Given the description of an element on the screen output the (x, y) to click on. 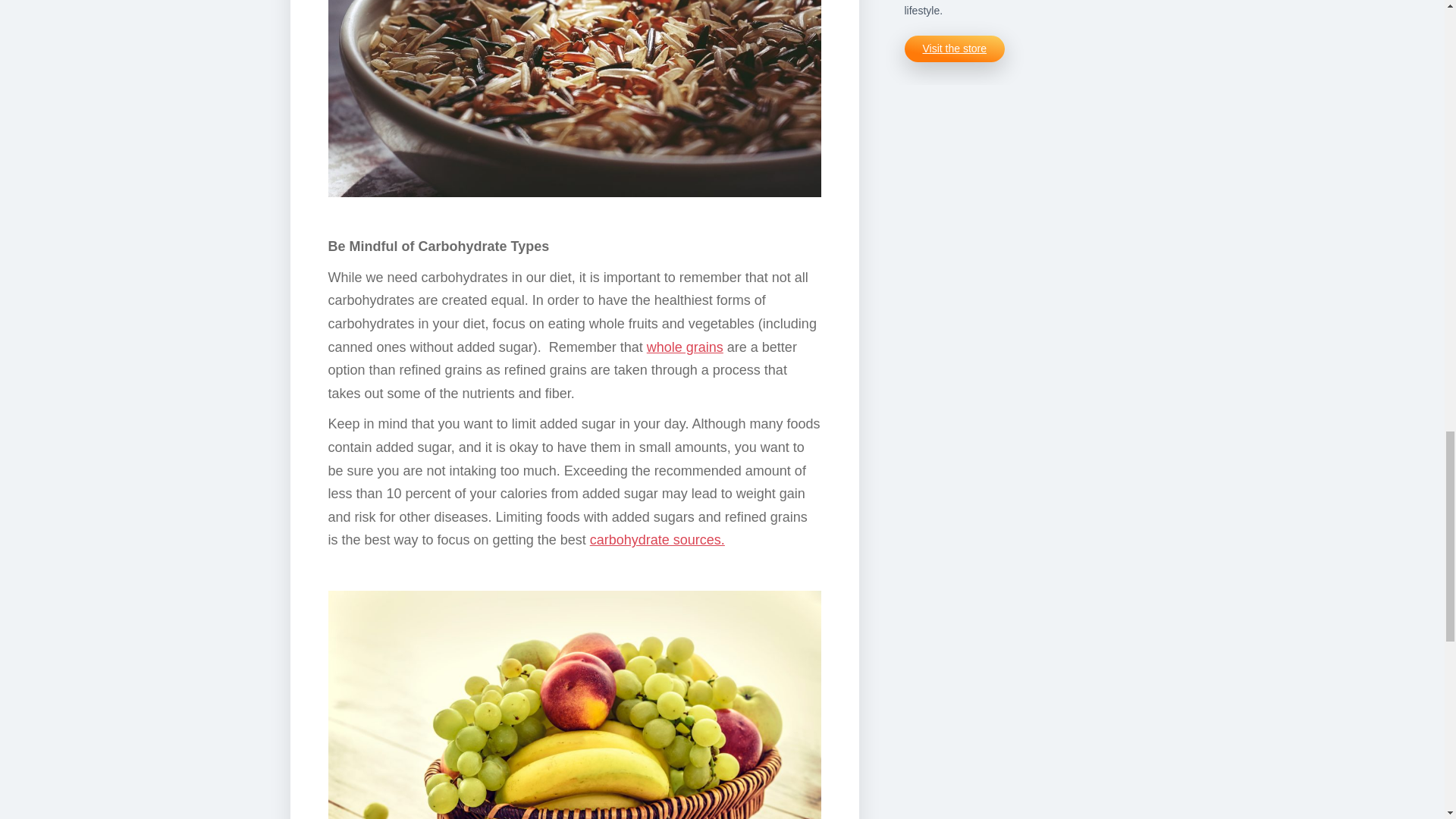
whole grains (684, 346)
Visit the store (954, 49)
carbohydrate sources. (657, 539)
